Given the description of an element on the screen output the (x, y) to click on. 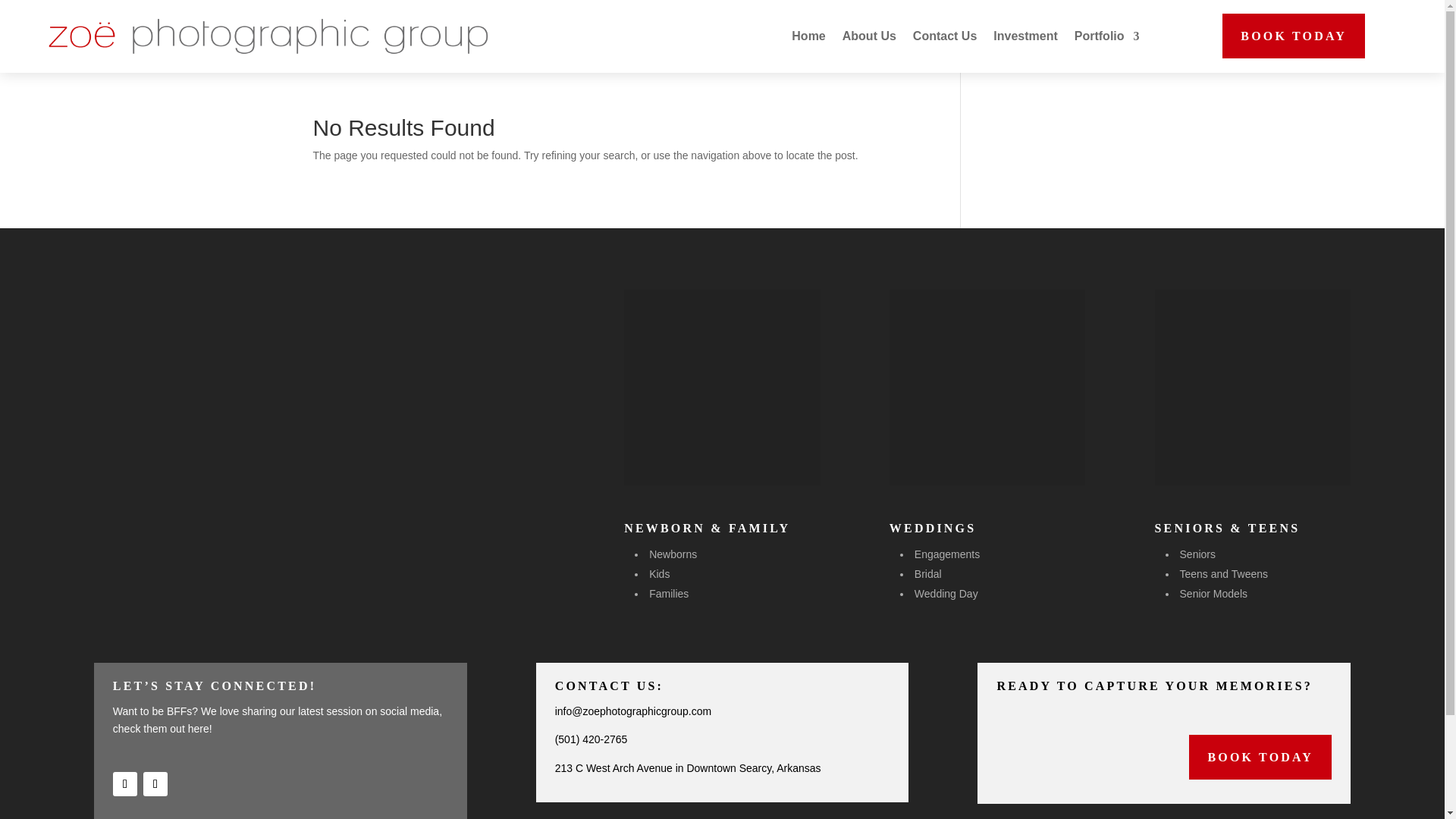
About Us (869, 36)
BOOK TODAY (1294, 35)
Follow on Facebook (124, 784)
BOOK TODAY (1260, 756)
Portfolio (1107, 36)
Investment (1024, 36)
Follow on Instagram (154, 784)
Contact Us (944, 36)
